Given the description of an element on the screen output the (x, y) to click on. 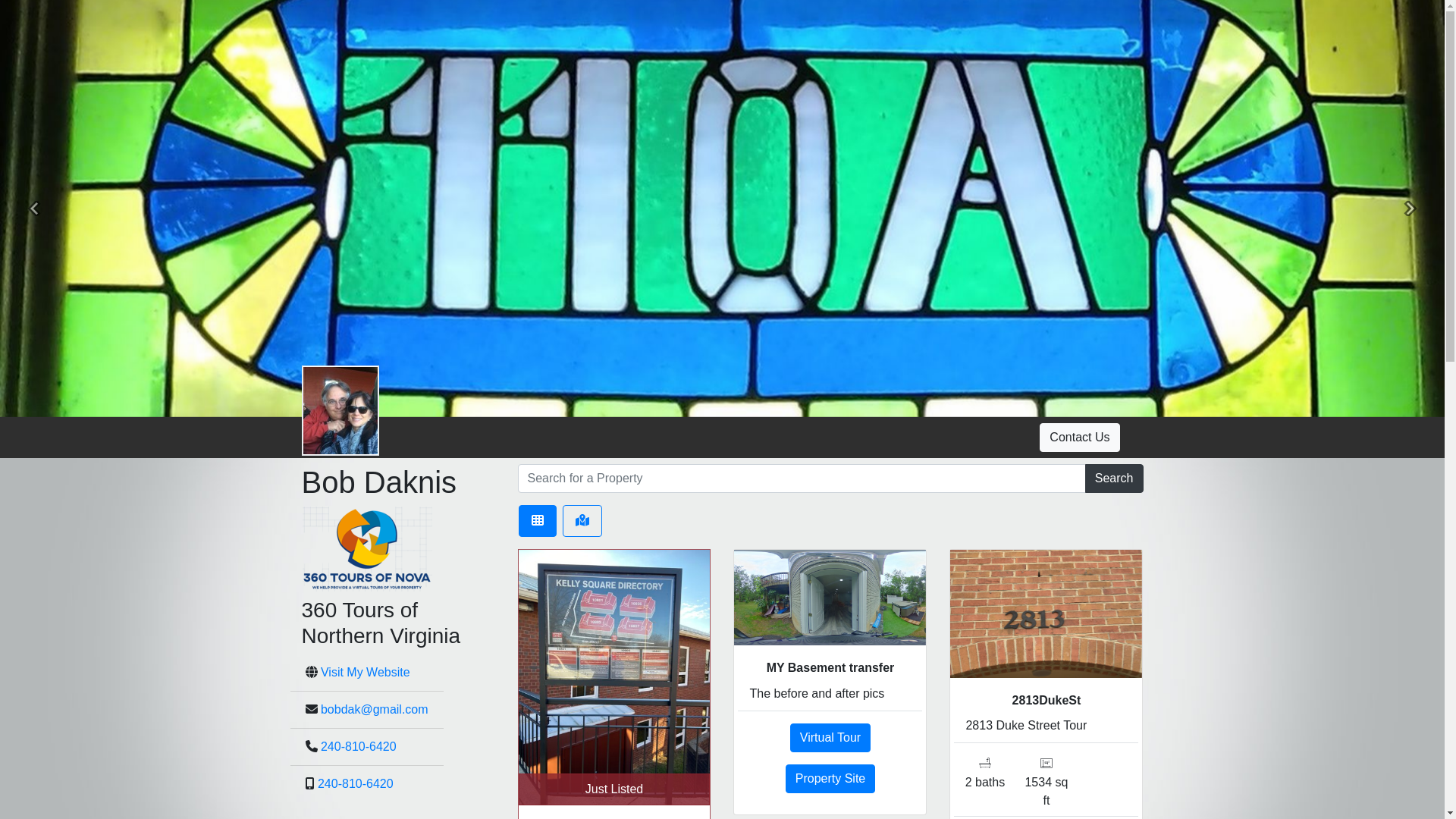
Bob Daknis Element type: hover (340, 410)
Search Element type: text (1114, 478)
Visit My Website Element type: text (365, 671)
360 Tours of Northern Virginia Element type: hover (366, 551)
Previous Element type: text (33, 208)
Search for a Property Element type: hover (801, 478)
Contact Us Element type: text (1079, 437)
Property Site Element type: text (830, 778)
240-810-6420 Element type: text (355, 783)
Next Element type: text (1410, 208)
240-810-6420 Element type: text (358, 746)
Virtual Tour Element type: text (830, 737)
bobdak@gmail.com Element type: text (374, 708)
